Given the description of an element on the screen output the (x, y) to click on. 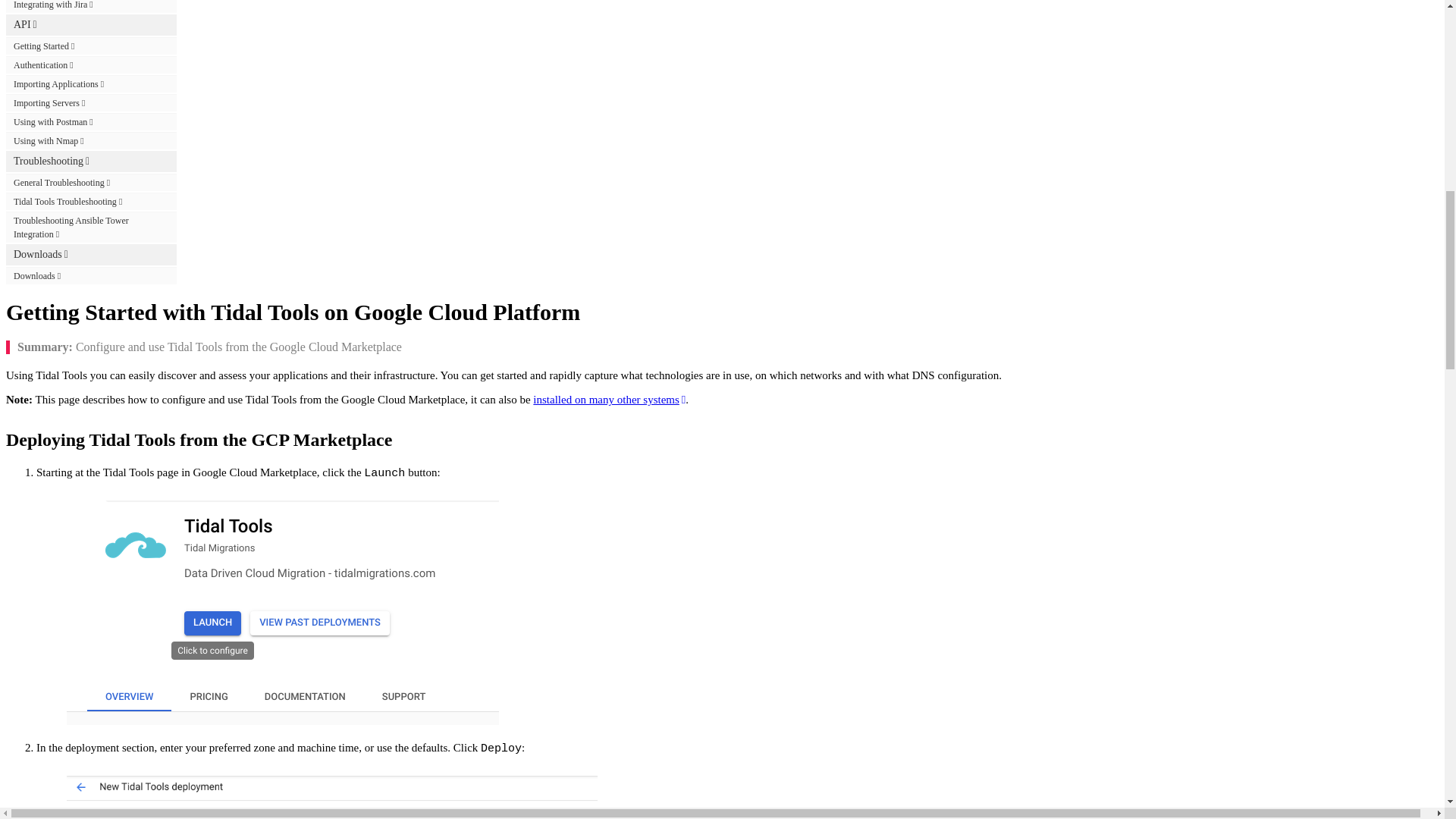
Integrating with Jira (90, 6)
Getting Started (90, 45)
API (90, 25)
